Given the description of an element on the screen output the (x, y) to click on. 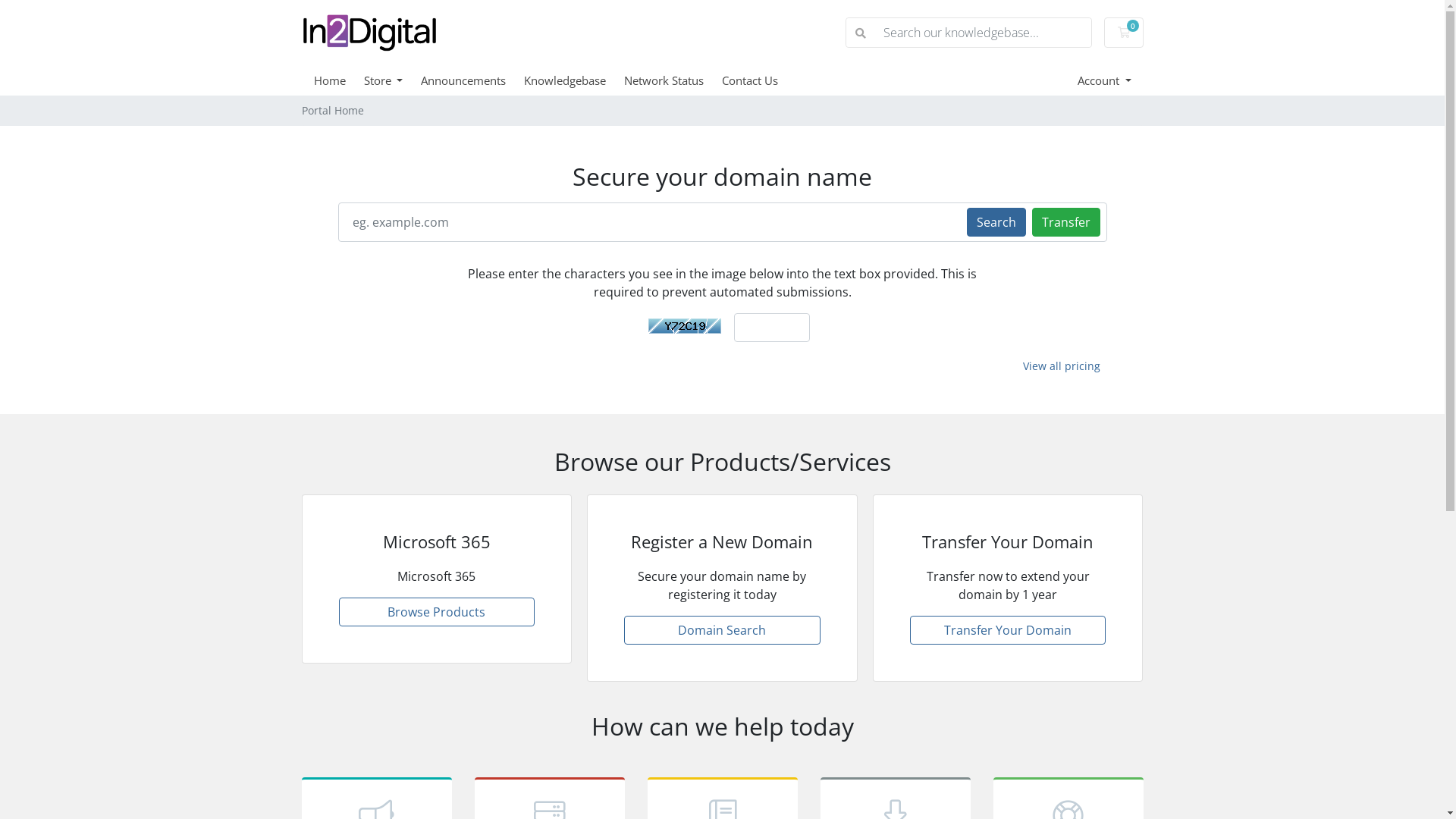
Transfer Element type: text (1065, 221)
Contact Us Element type: text (758, 79)
Transfer Your Domain Element type: text (1008, 629)
Search Element type: text (995, 221)
Required Element type: hover (771, 327)
Announcements Element type: text (472, 79)
Network Status Element type: text (672, 79)
View all pricing Element type: text (1061, 365)
Home Element type: text (338, 79)
Domain Search Element type: text (722, 629)
Account Element type: text (1104, 79)
Browse Products Element type: text (436, 611)
Knowledgebase Element type: text (574, 79)
0
Shopping Cart Element type: text (1123, 32)
Store Element type: text (392, 79)
